Given the description of an element on the screen output the (x, y) to click on. 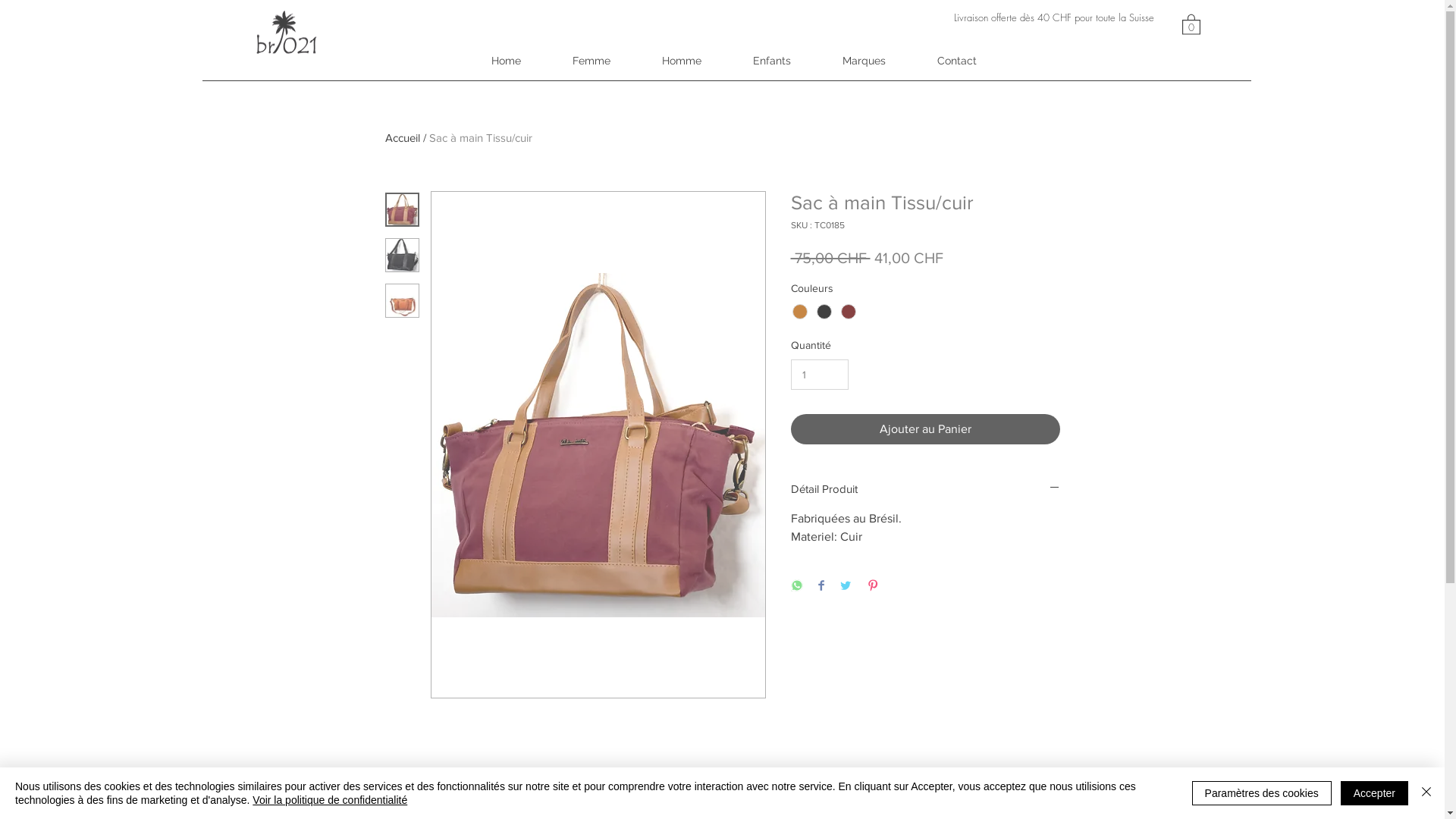
0 Element type: text (1190, 23)
Home Element type: text (505, 60)
Contact Element type: text (956, 60)
Site Search Element type: hover (1078, 33)
Marques Element type: text (862, 60)
Accueil Element type: text (402, 137)
Ajouter au Panier Element type: text (924, 429)
Accepter Element type: text (1374, 793)
Homme Element type: text (680, 60)
Retour au site Element type: hover (1037, 788)
Enfants Element type: text (770, 60)
Femme Element type: text (590, 60)
